Given the description of an element on the screen output the (x, y) to click on. 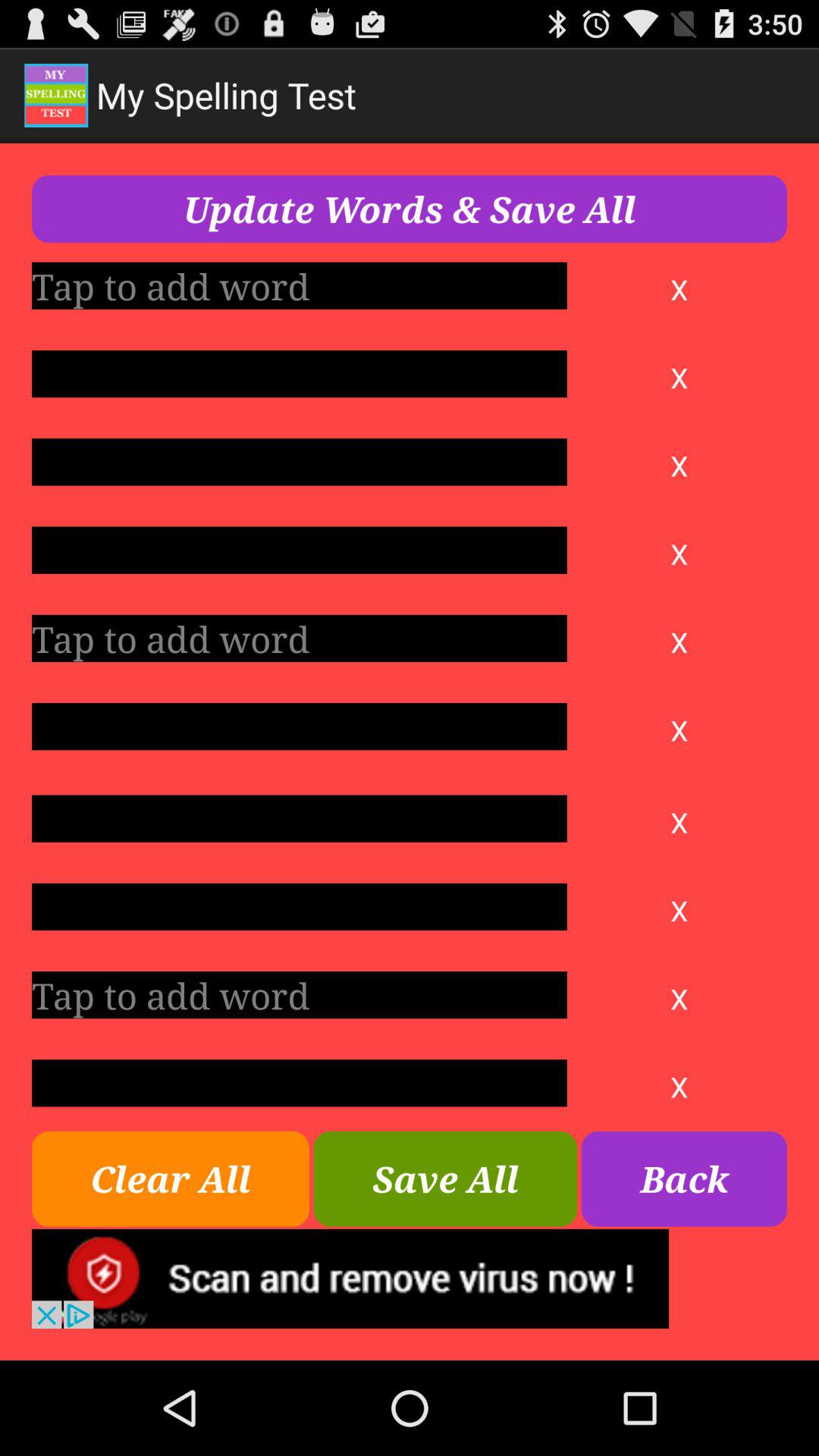
tap to add word column (299, 285)
